Given the description of an element on the screen output the (x, y) to click on. 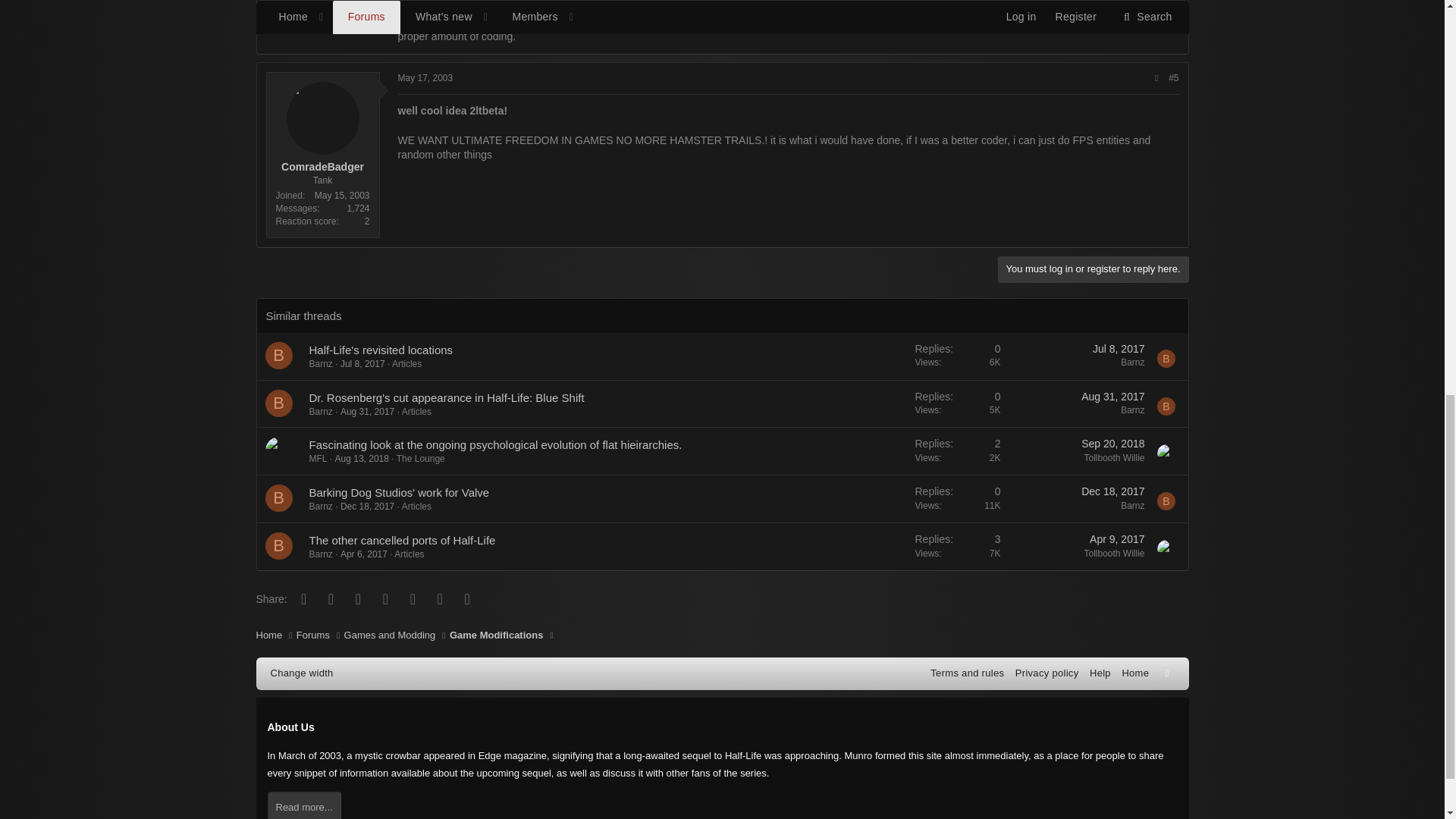
Jul 8, 2017 at 12:29 AM (362, 363)
Aug 31, 2017 at 4:27 AM (1112, 396)
Jul 8, 2017 at 12:29 AM (1118, 348)
May 17, 2003 at 9:14 PM (424, 77)
First message reaction score: 1 (958, 356)
Aug 31, 2017 at 4:27 AM (367, 411)
First message reaction score: 1 (958, 403)
